Given the description of an element on the screen output the (x, y) to click on. 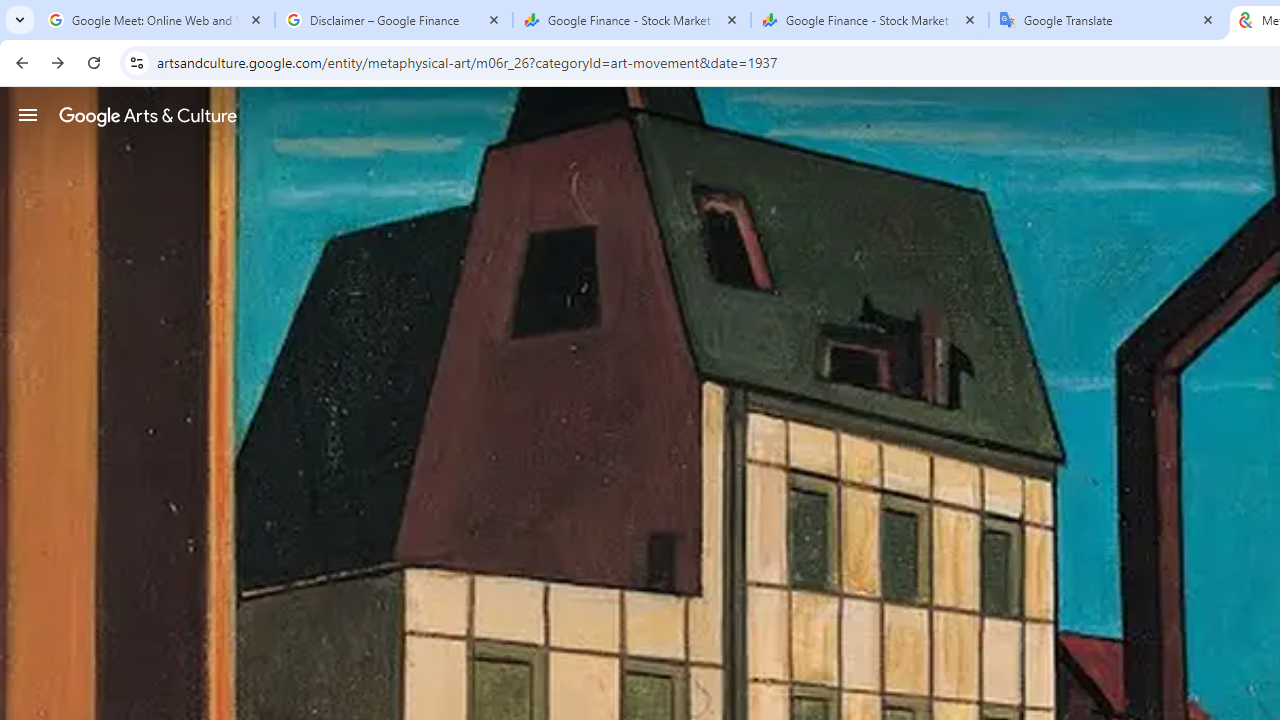
Google Arts & Culture (148, 115)
Google Translate (1108, 20)
Menu (27, 114)
